Given the description of an element on the screen output the (x, y) to click on. 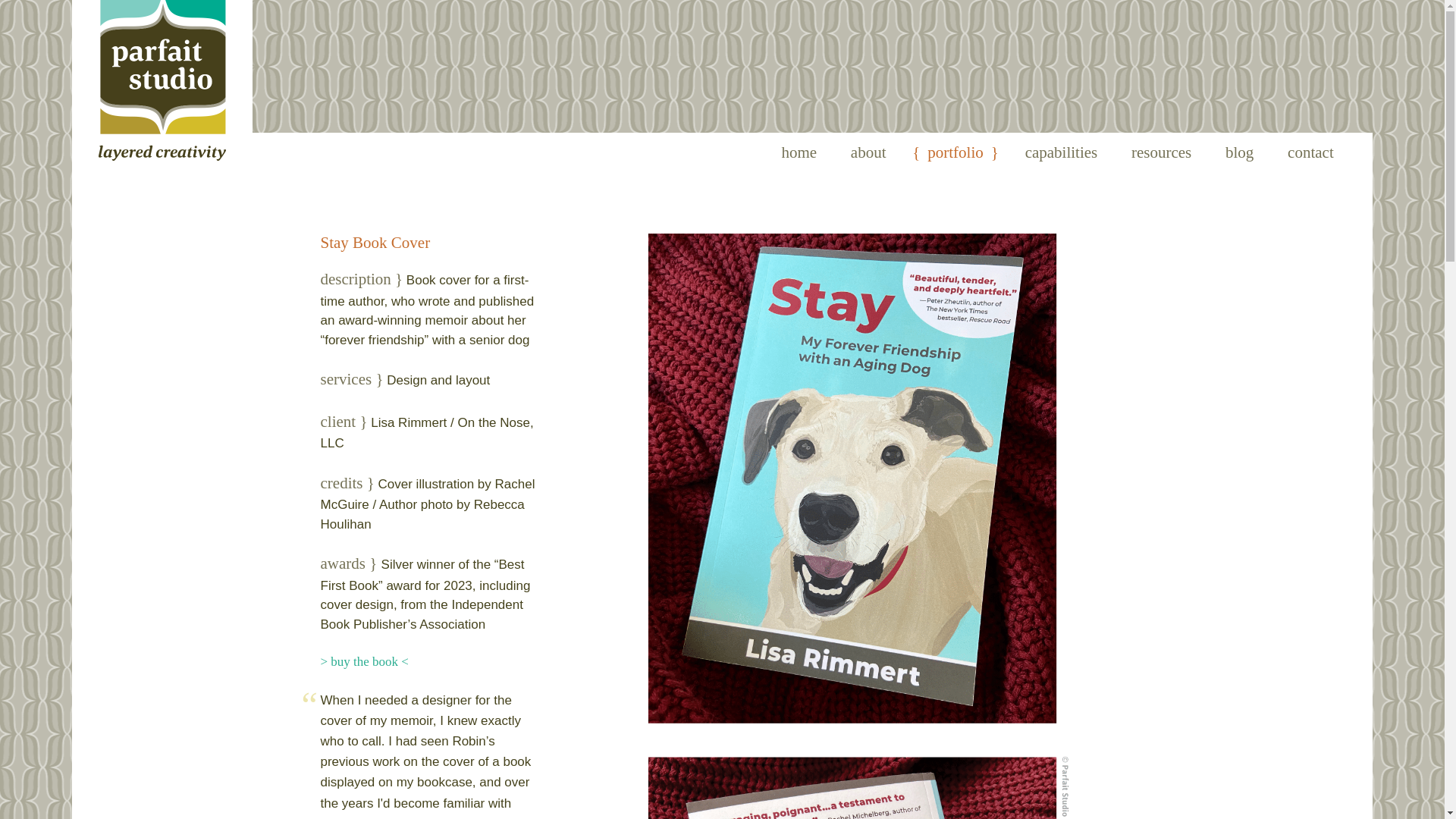
capabilities (1061, 152)
about (868, 152)
blog (1238, 152)
resources (1161, 152)
contact (1310, 152)
home (798, 152)
portfolio (955, 152)
